Given the description of an element on the screen output the (x, y) to click on. 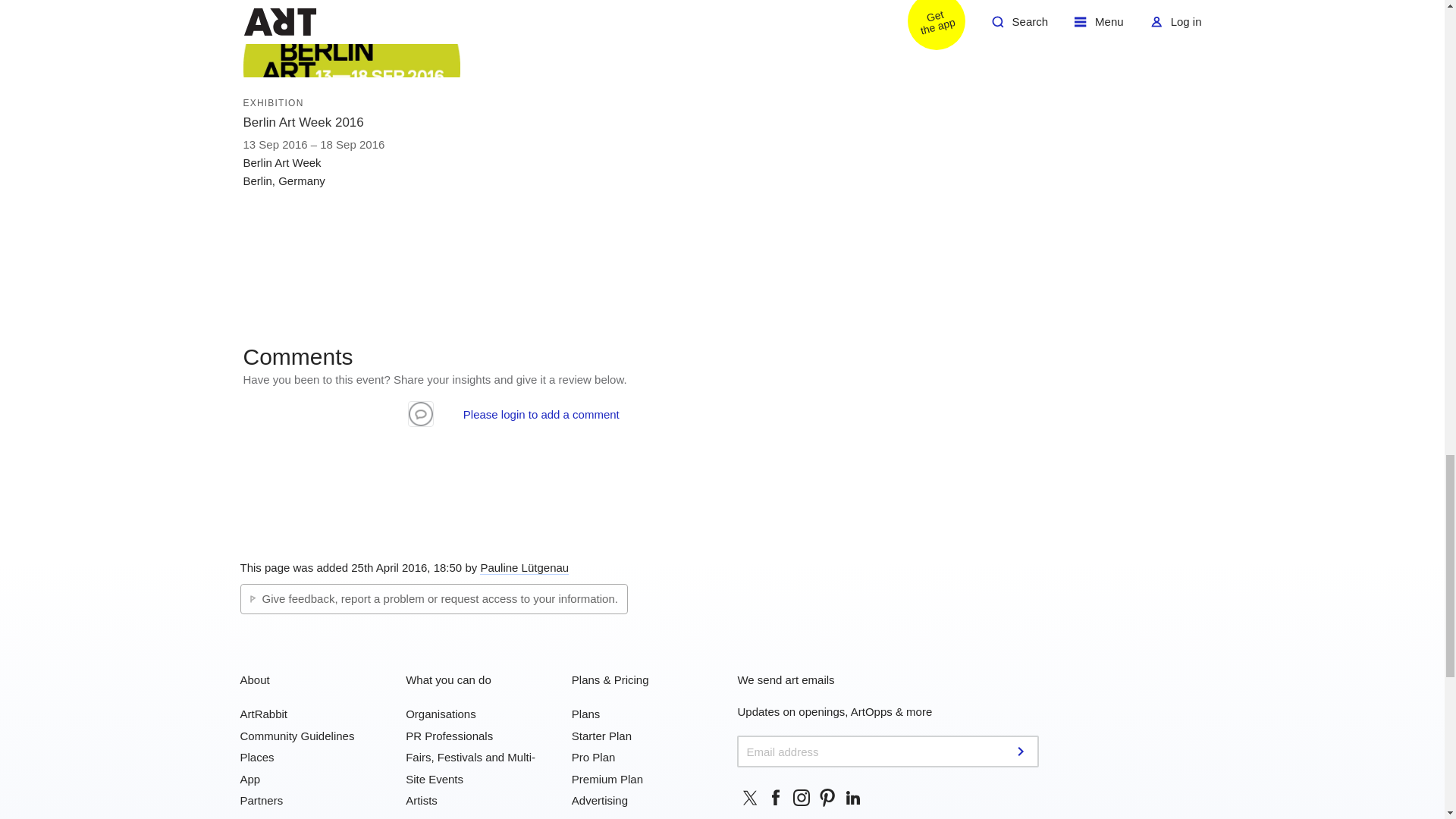
submit (1021, 751)
